Given the description of an element on the screen output the (x, y) to click on. 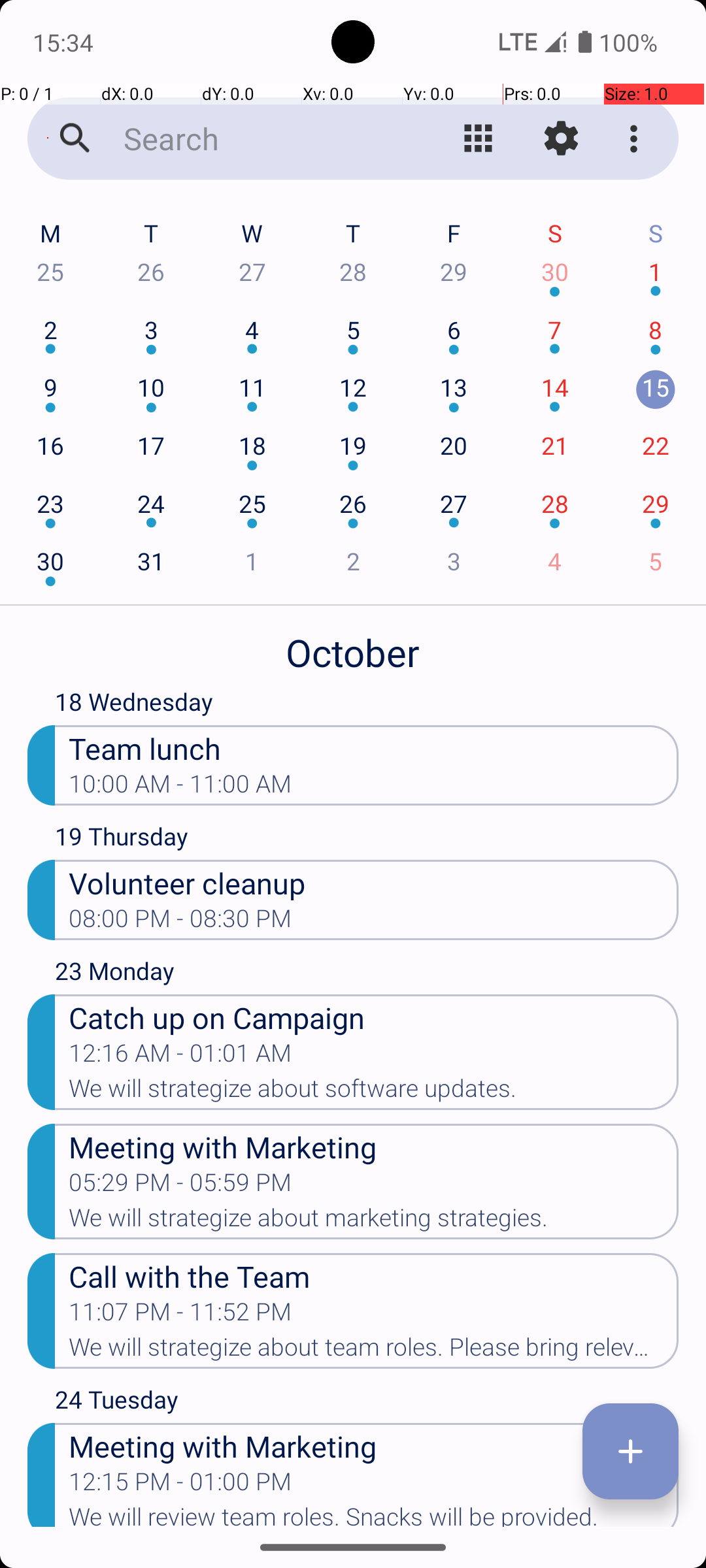
24 Tuesday Element type: android.widget.TextView (366, 1402)
Team lunch Element type: android.widget.TextView (373, 747)
10:00 AM - 11:00 AM Element type: android.widget.TextView (179, 787)
Volunteer cleanup Element type: android.widget.TextView (373, 881)
08:00 PM - 08:30 PM Element type: android.widget.TextView (179, 922)
12:16 AM - 01:01 AM Element type: android.widget.TextView (179, 1056)
We will strategize about software updates. Element type: android.widget.TextView (373, 1092)
05:29 PM - 05:59 PM Element type: android.widget.TextView (179, 1186)
We will strategize about marketing strategies. Element type: android.widget.TextView (373, 1221)
11:07 PM - 11:52 PM Element type: android.widget.TextView (179, 1315)
We will strategize about team roles. Please bring relevant documents. Element type: android.widget.TextView (373, 1350)
12:15 PM - 01:00 PM Element type: android.widget.TextView (179, 1485)
We will review team roles. Snacks will be provided. Element type: android.widget.TextView (373, 1514)
